Given the description of an element on the screen output the (x, y) to click on. 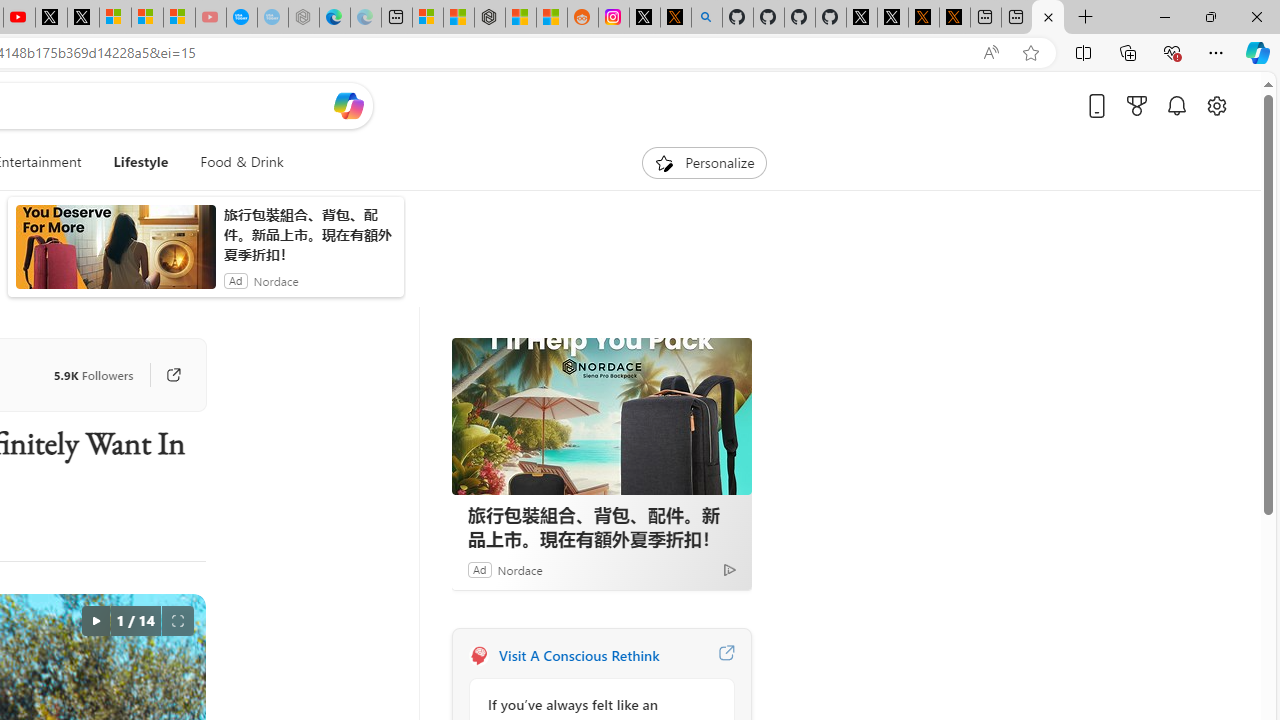
Health (34, 265)
Notifications (1176, 138)
Map (630, 411)
My location (558, 315)
github - Search (675, 17)
Add a site (332, 223)
Heat - Severe (699, 359)
help.x.com | 524: A timeout occurred (644, 17)
tab-0 (488, 579)
